Given the description of an element on the screen output the (x, y) to click on. 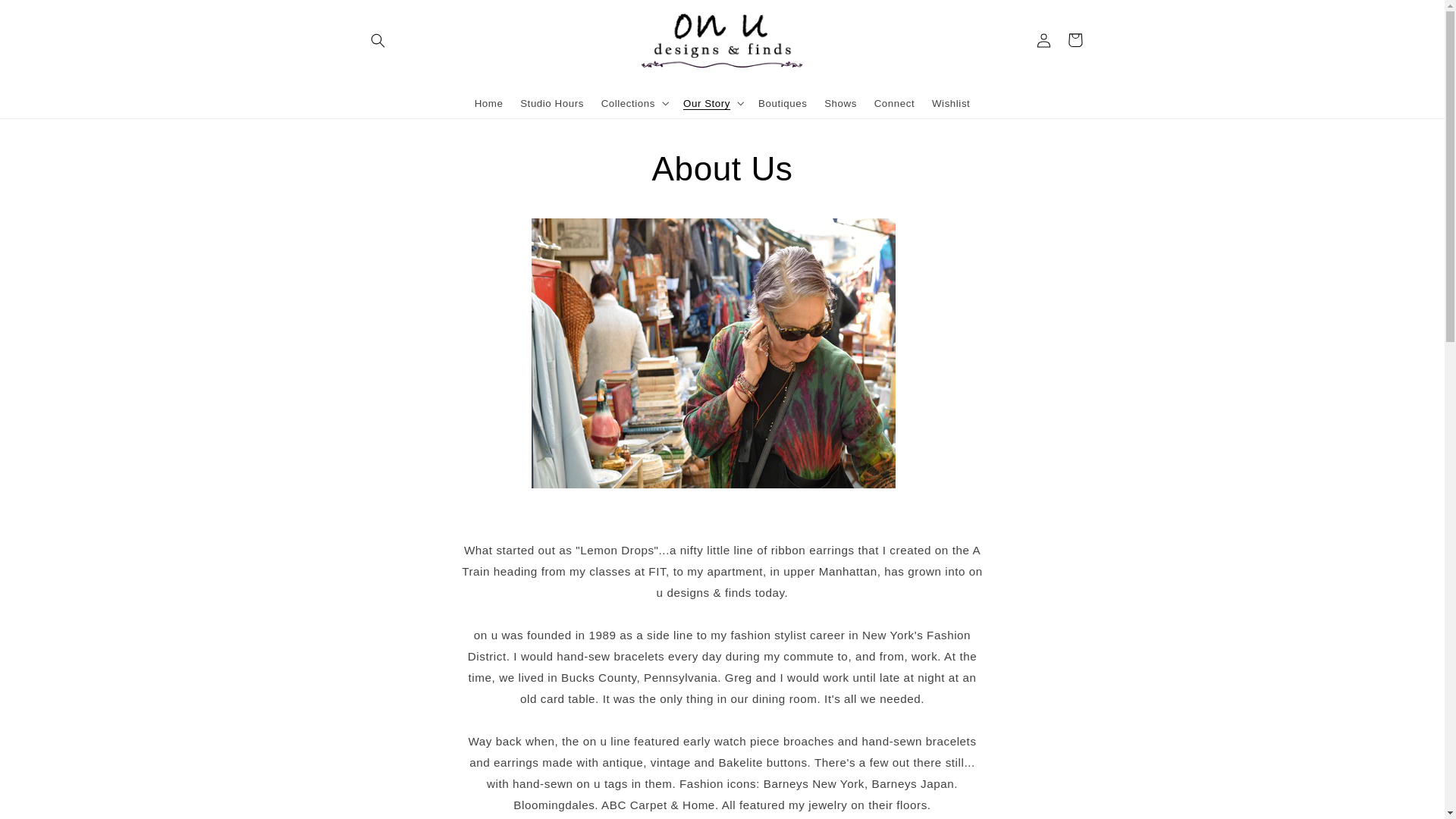
Studio Hours (552, 102)
Home (488, 102)
Skip to content (43, 16)
